Given the description of an element on the screen output the (x, y) to click on. 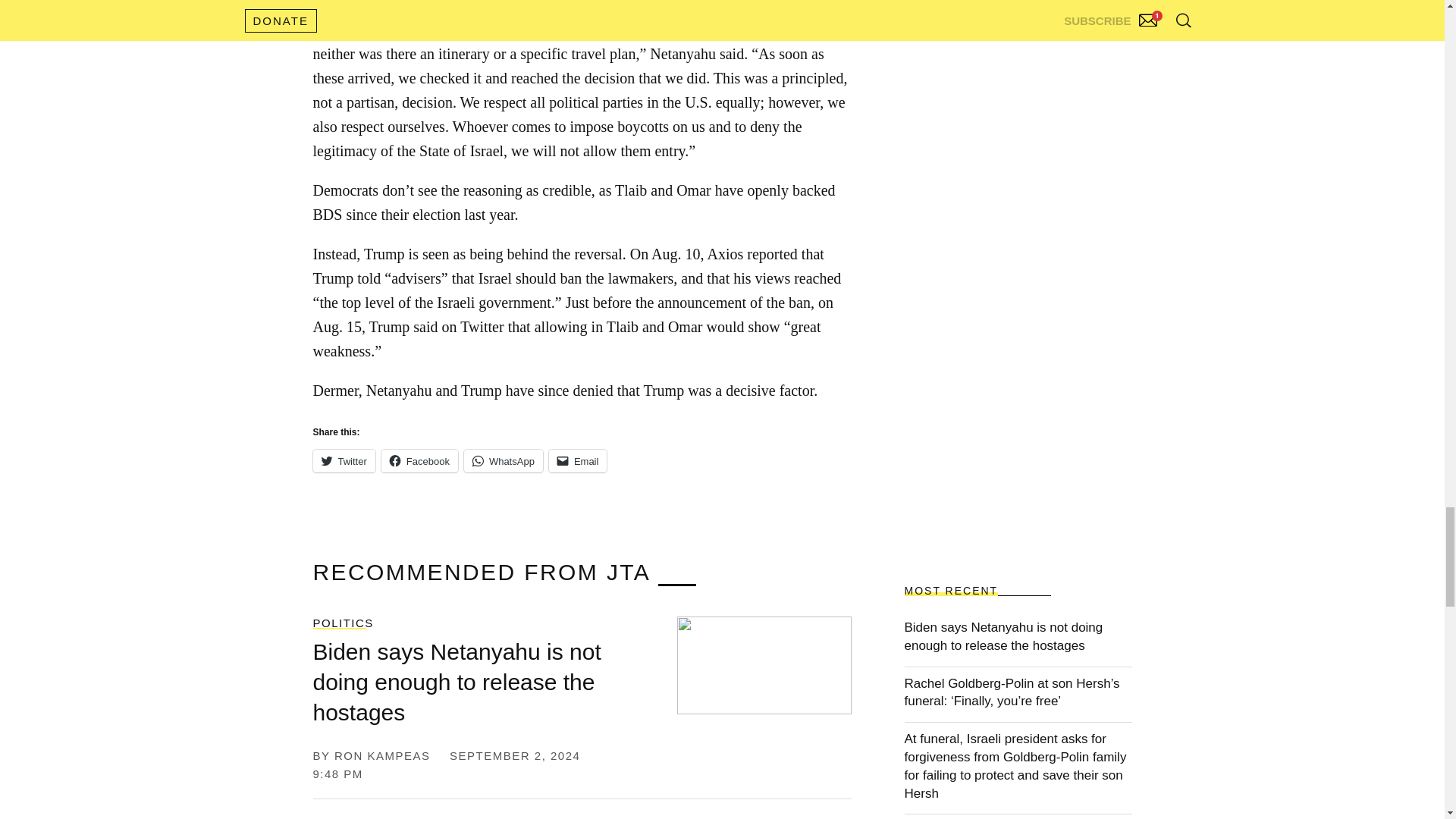
Click to email a link to a friend (577, 460)
Click to share on WhatsApp (503, 460)
Click to share on Facebook (419, 460)
Click to share on Twitter (343, 460)
